Given the description of an element on the screen output the (x, y) to click on. 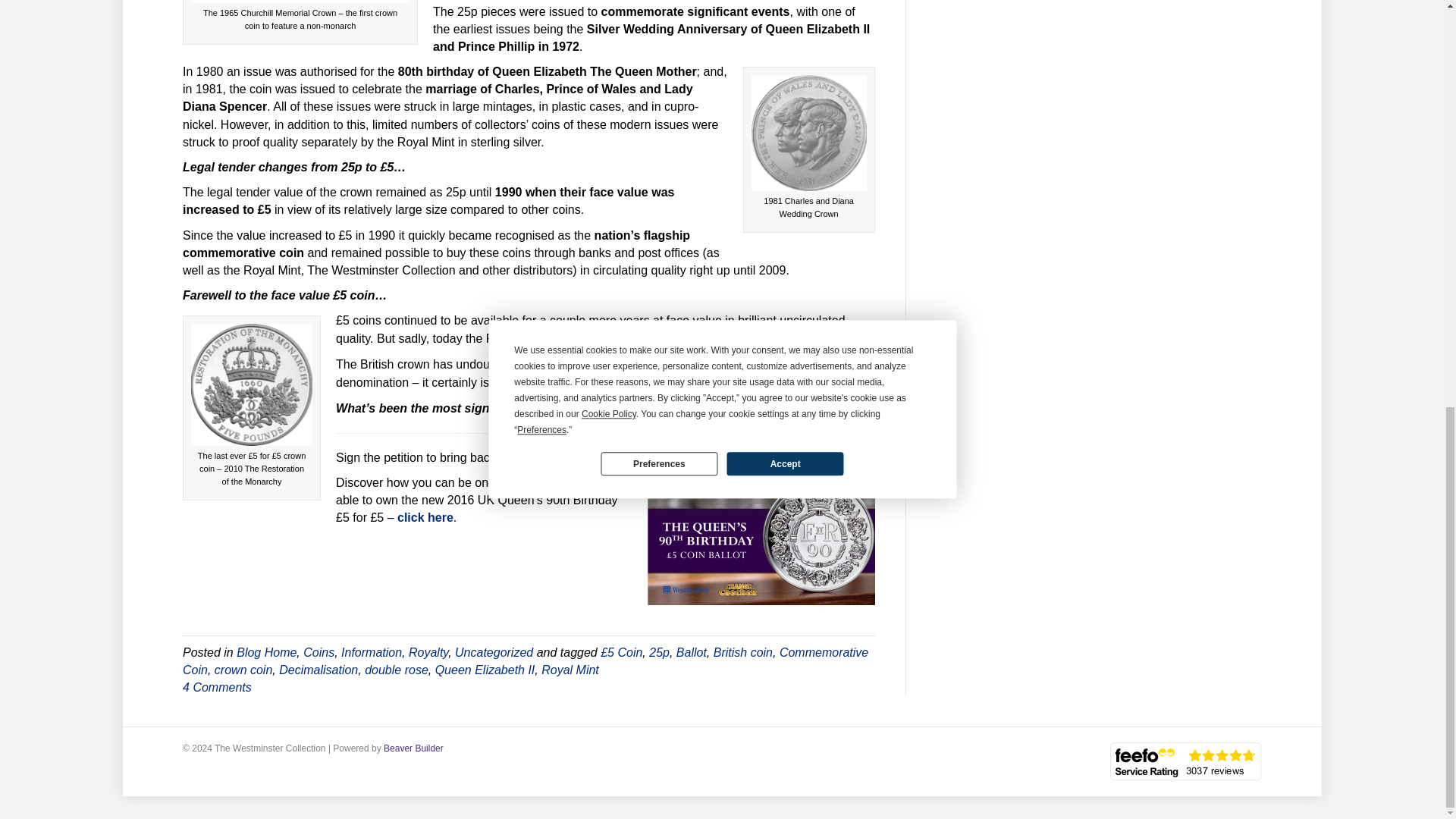
The history of the British crown coin... (251, 384)
WordPress Page Builder Plugin (414, 747)
The history of the British crown coin... (761, 541)
See what our customers say about us (1185, 761)
The history of the British crown coin... (299, 1)
The history of the British crown coin... (808, 132)
click here (424, 517)
clicking here (623, 456)
